Given the description of an element on the screen output the (x, y) to click on. 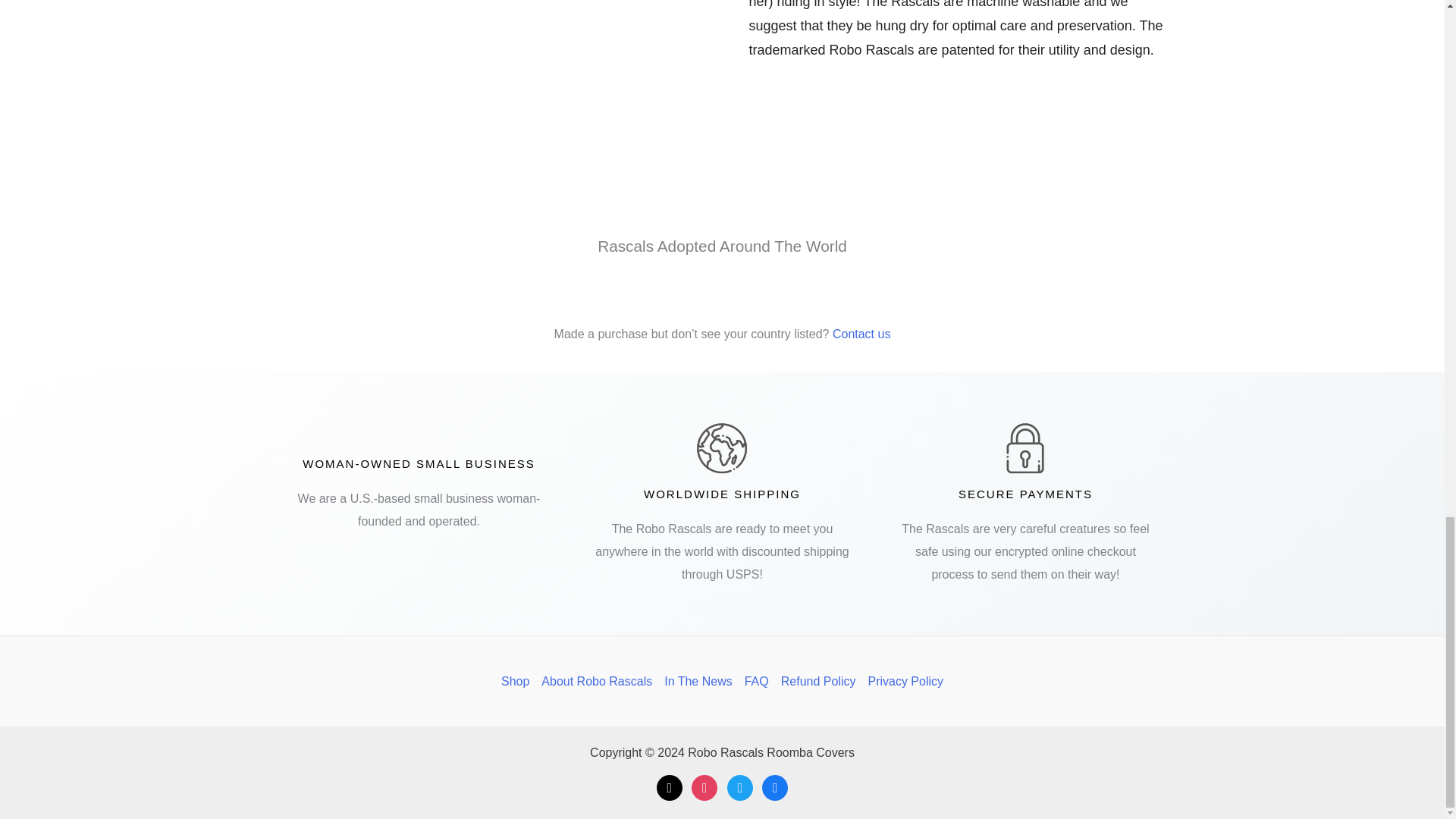
Shop (517, 681)
In The News (698, 681)
Contact us (860, 333)
FAQ (756, 681)
About Robo Rascals (596, 681)
Privacy Policy (902, 681)
Refund Policy (817, 681)
